Given the description of an element on the screen output the (x, y) to click on. 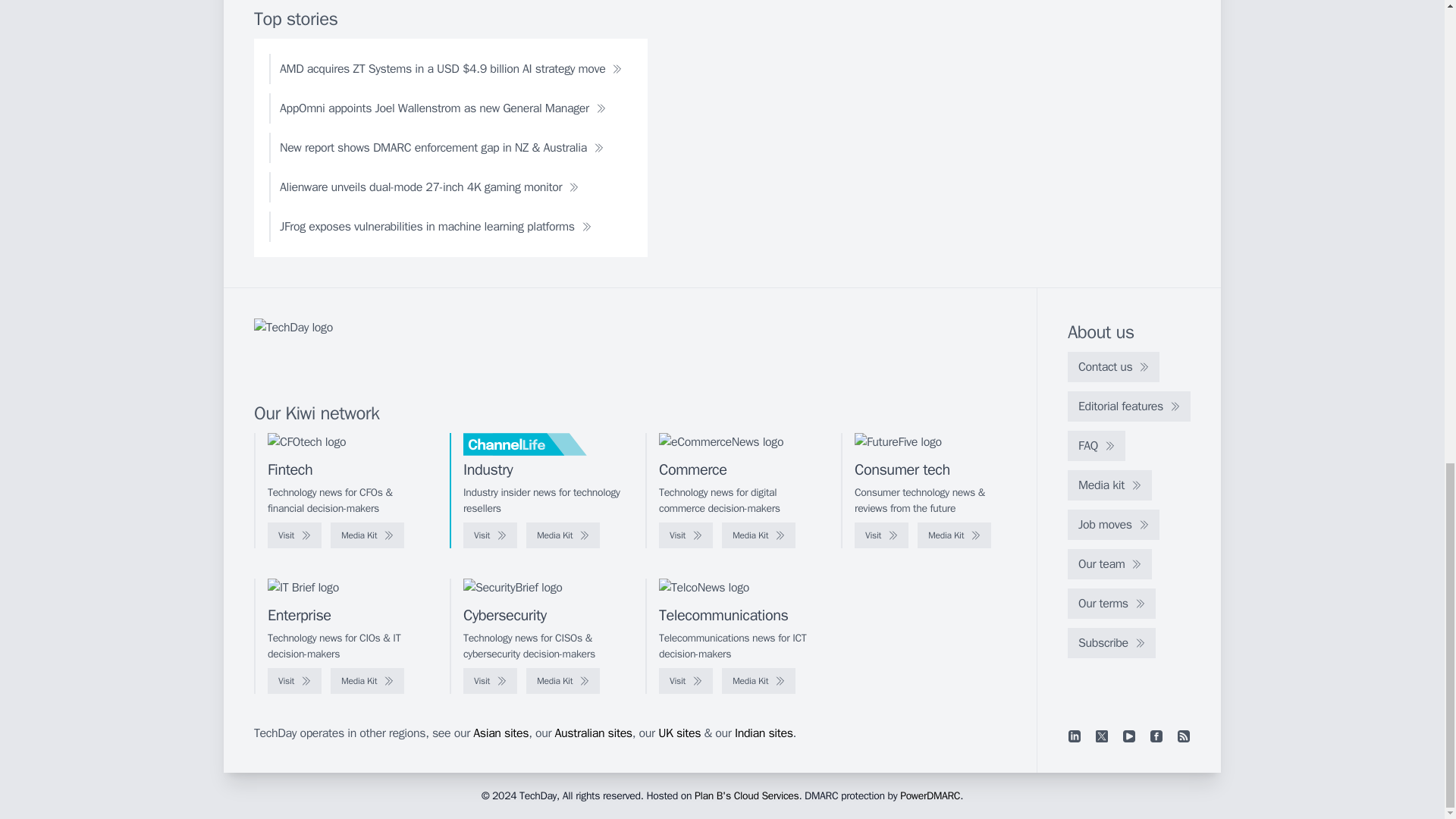
Visit (294, 534)
Visit (489, 680)
Visit (294, 680)
AppOmni appoints Joel Wallenstrom as new General Manager (442, 108)
Visit (686, 534)
Media Kit (954, 534)
JFrog exposes vulnerabilities in machine learning platforms (435, 226)
Media Kit (758, 534)
Alienware unveils dual-mode 27-inch 4K gaming monitor (429, 186)
Media Kit (367, 534)
